Given the description of an element on the screen output the (x, y) to click on. 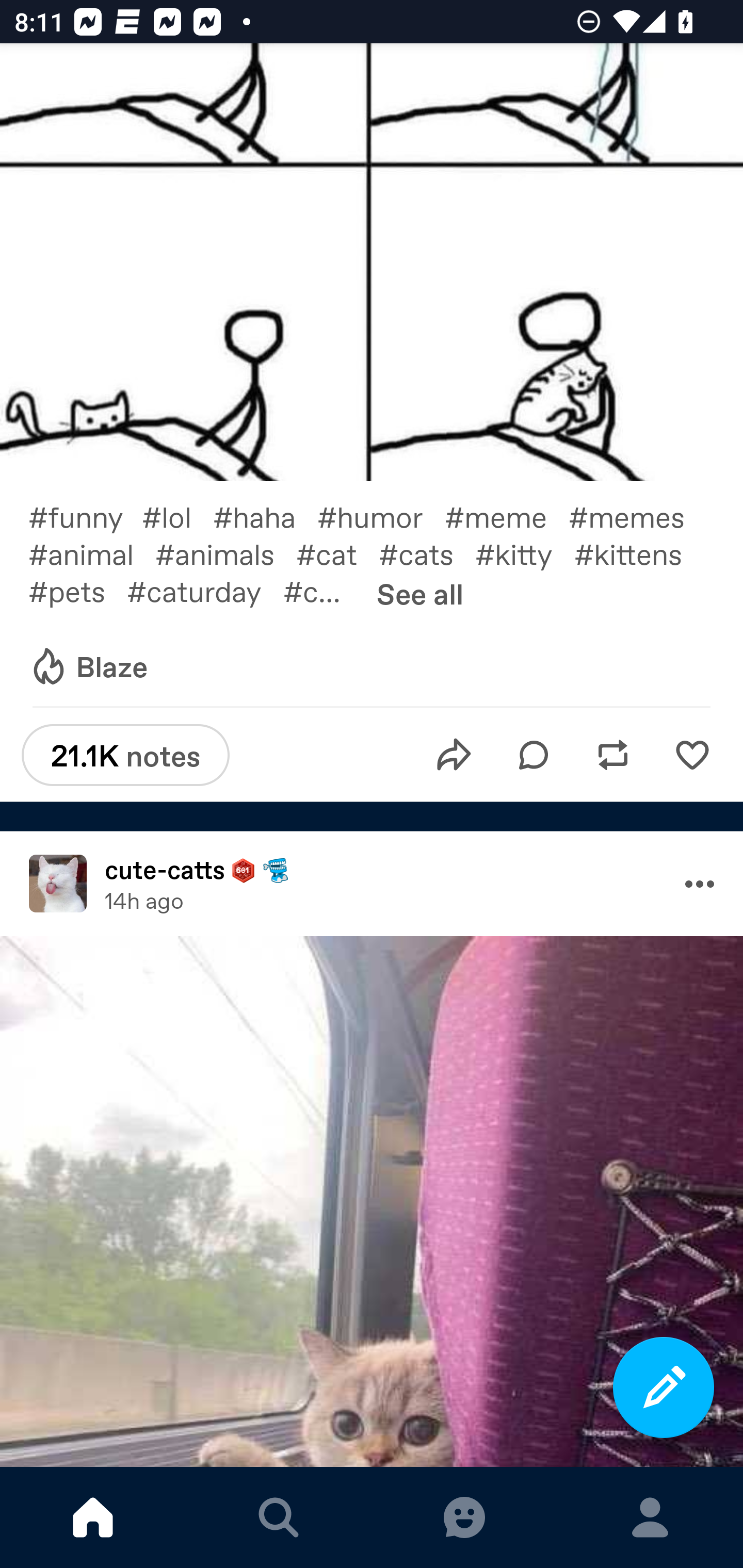
#funny (84, 515)
#lol (177, 515)
#haha (265, 515)
#humor (381, 515)
#meme (506, 515)
#memes (637, 515)
#animal (91, 553)
#animals (225, 553)
#cat (337, 553)
#cats (426, 553)
#kitty (524, 553)
#kittens (638, 553)
#pets (77, 590)
#caturday (205, 590)
#c… (322, 590)
See all (419, 593)
Blaze Blaze Blaze (88, 666)
Share post to message (454, 755)
Reply (533, 755)
Reblog (612, 755)
Like (691, 755)
21.1K notes (125, 754)
Compose a new post (663, 1387)
DASHBOARD (92, 1517)
EXPLORE (278, 1517)
MESSAGES (464, 1517)
ACCOUNT (650, 1517)
